Given the description of an element on the screen output the (x, y) to click on. 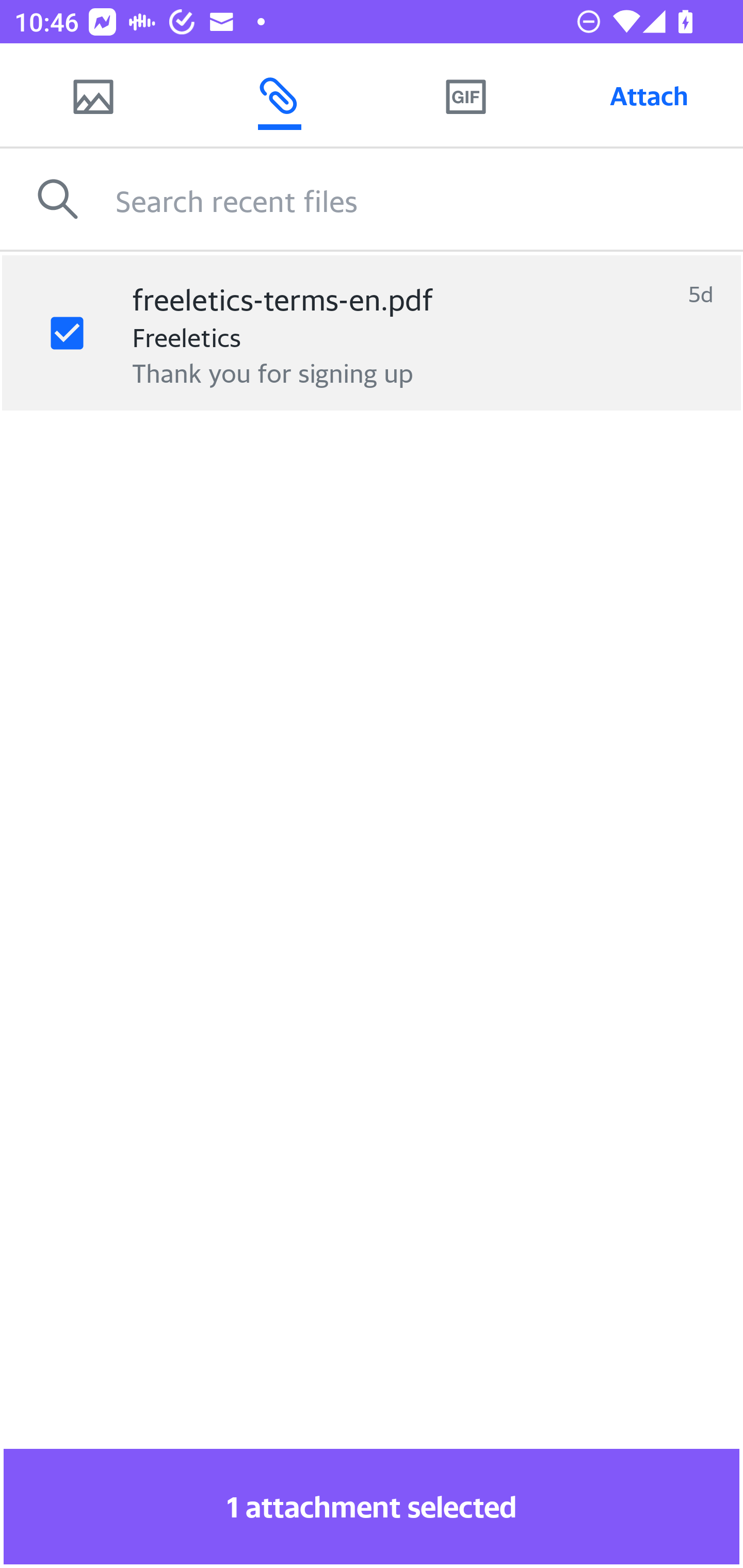
Camera photos (93, 95)
Recent attachments from mail (279, 95)
GIFs (465, 95)
Attach (649, 95)
Search recent files (429, 198)
1 attachment selected (371, 1506)
